Given the description of an element on the screen output the (x, y) to click on. 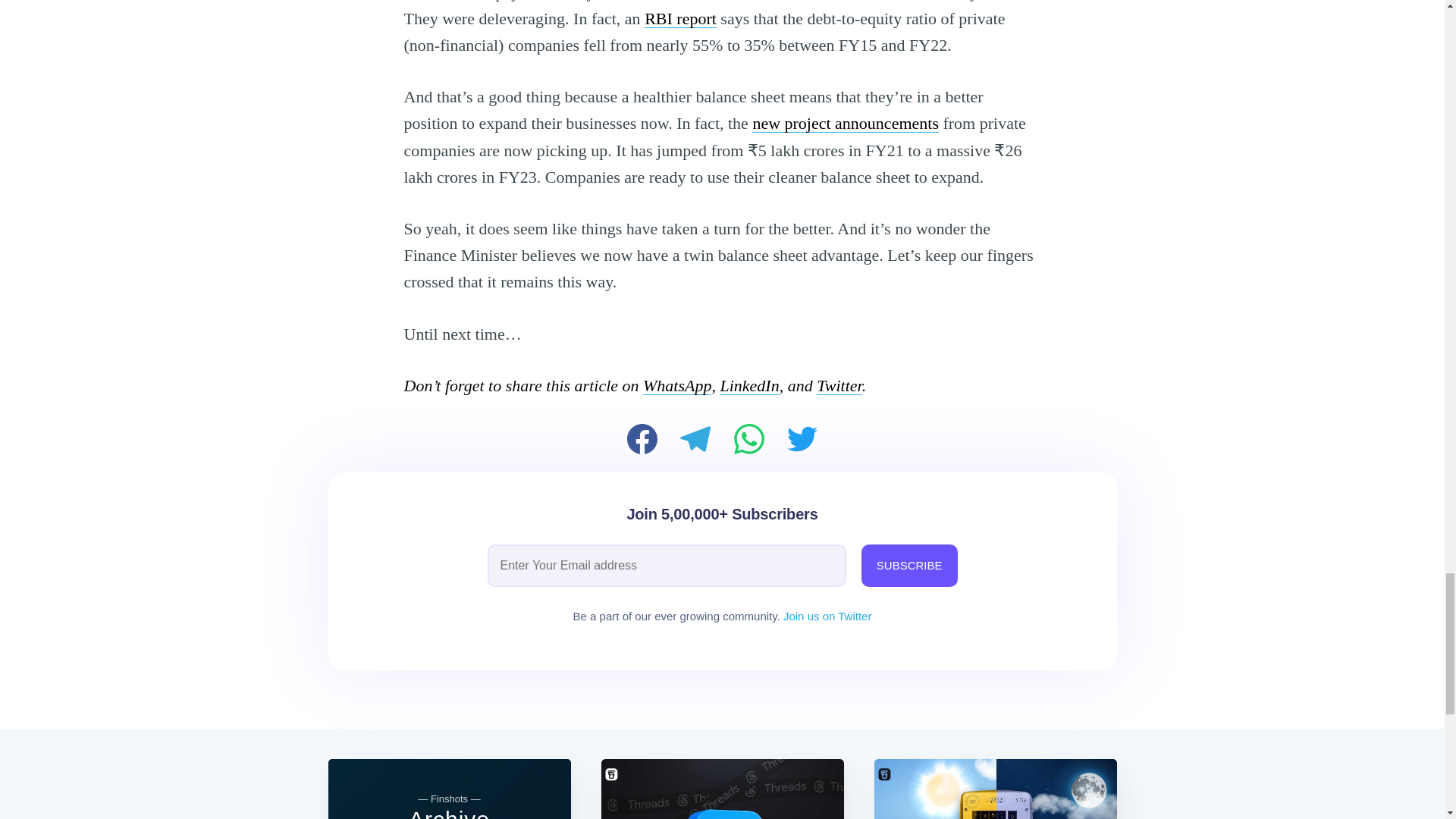
RBI report (680, 18)
Twitter (838, 384)
Join us on Twitter (826, 615)
LinkedIn (748, 384)
Archive (449, 812)
SUBSCRIBE (909, 565)
new project announcements (845, 122)
WhatsApp (677, 384)
